Given the description of an element on the screen output the (x, y) to click on. 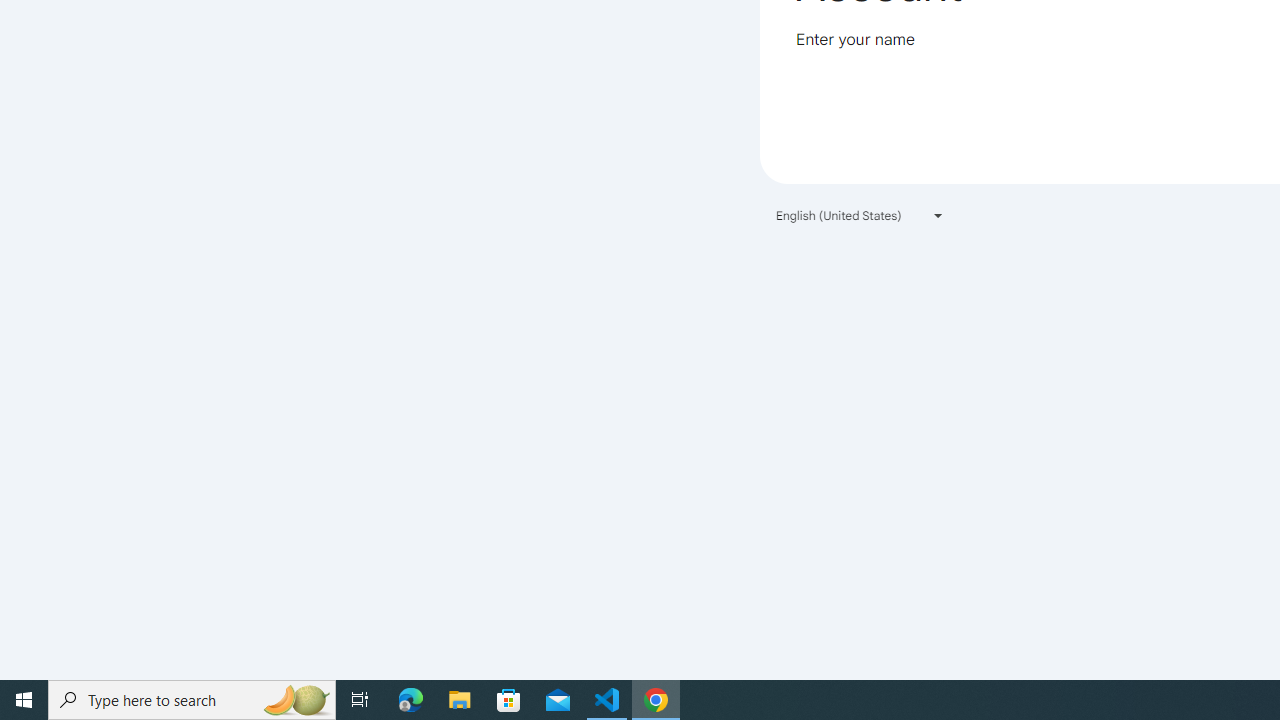
English (United States) (860, 214)
